Given the description of an element on the screen output the (x, y) to click on. 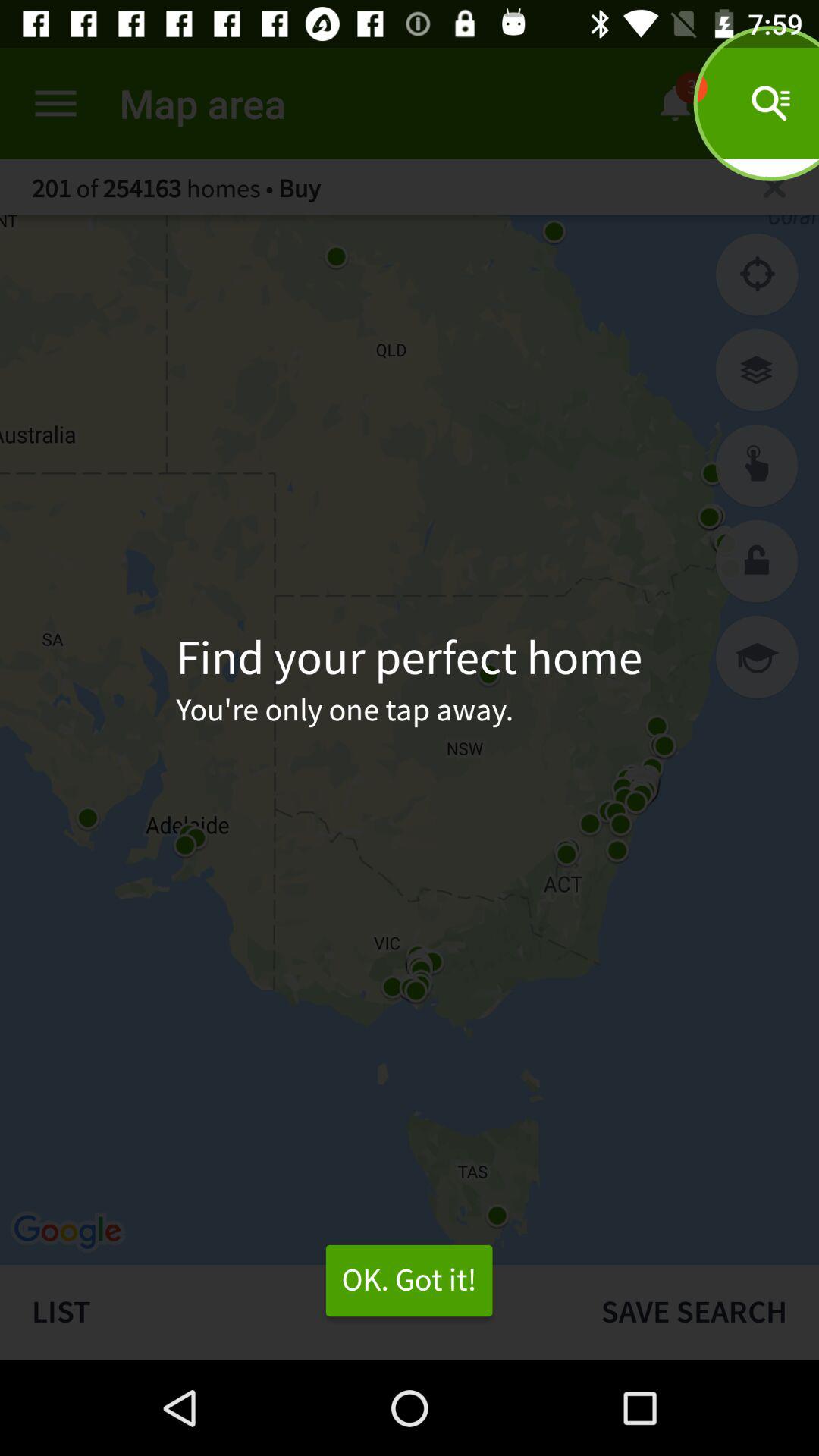
press the item to the right of the find your perfect (756, 656)
